Given the description of an element on the screen output the (x, y) to click on. 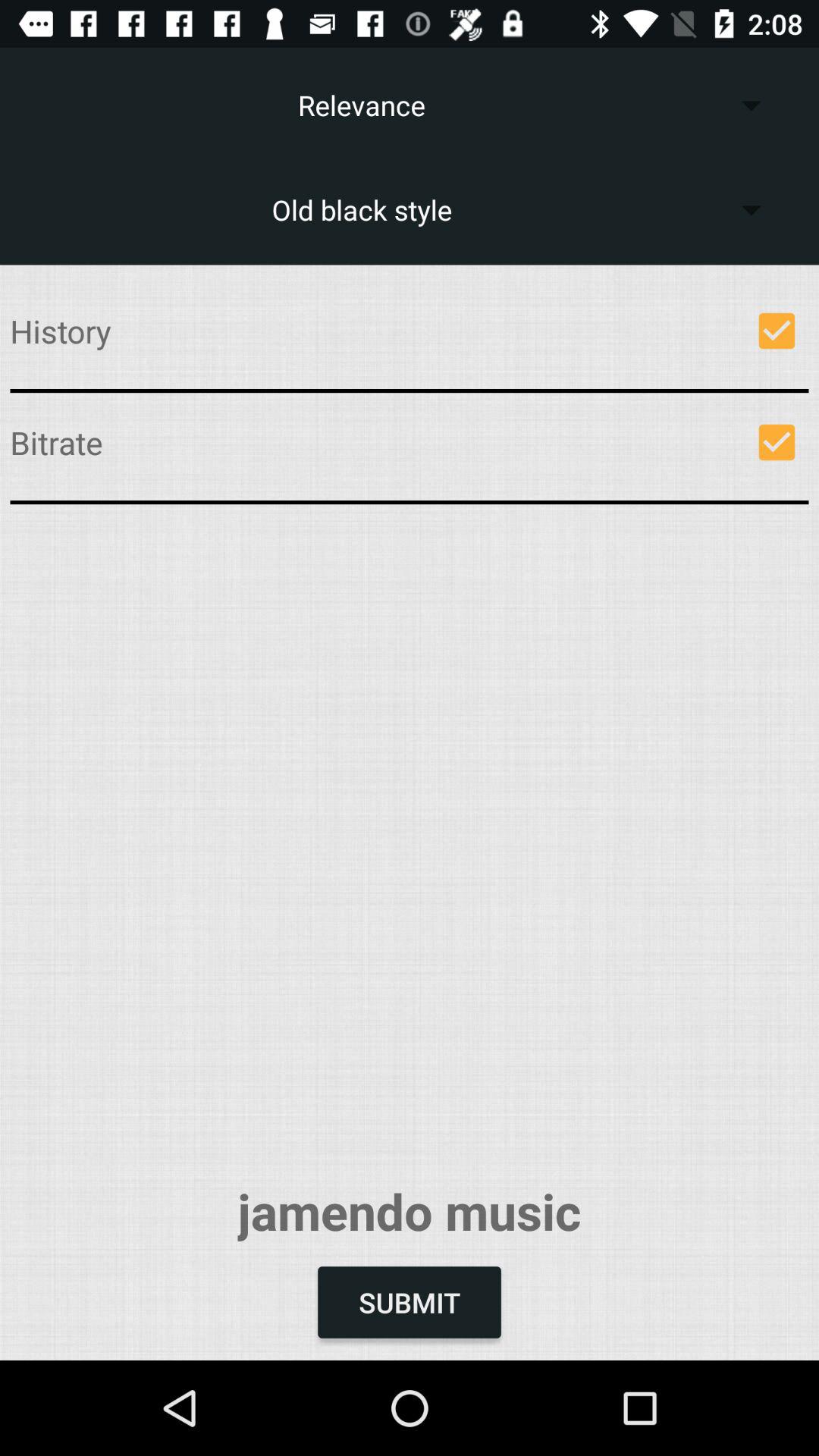
do not include bit rate (776, 442)
